Given the description of an element on the screen output the (x, y) to click on. 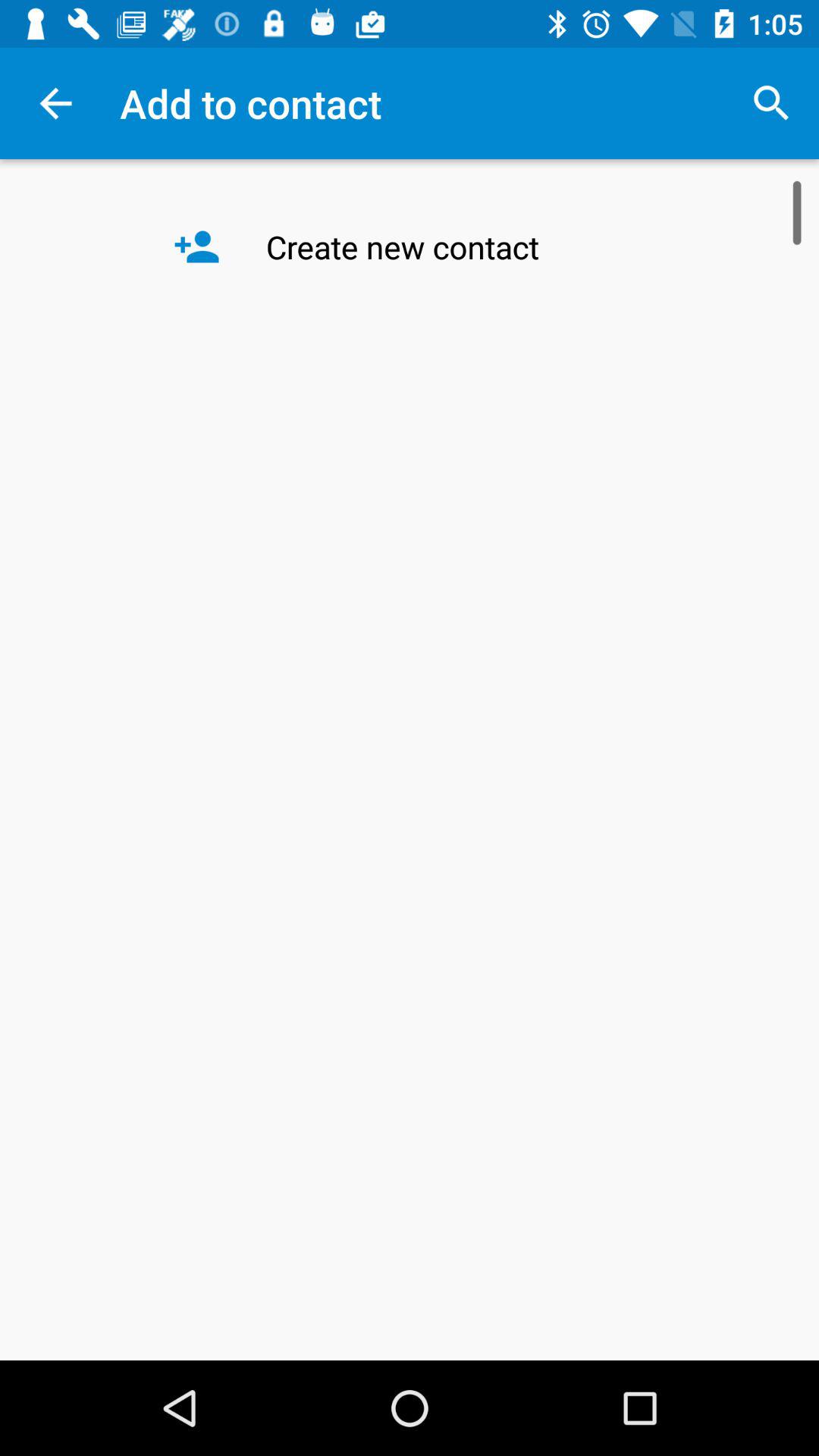
tap item next to the add to contact item (771, 103)
